Given the description of an element on the screen output the (x, y) to click on. 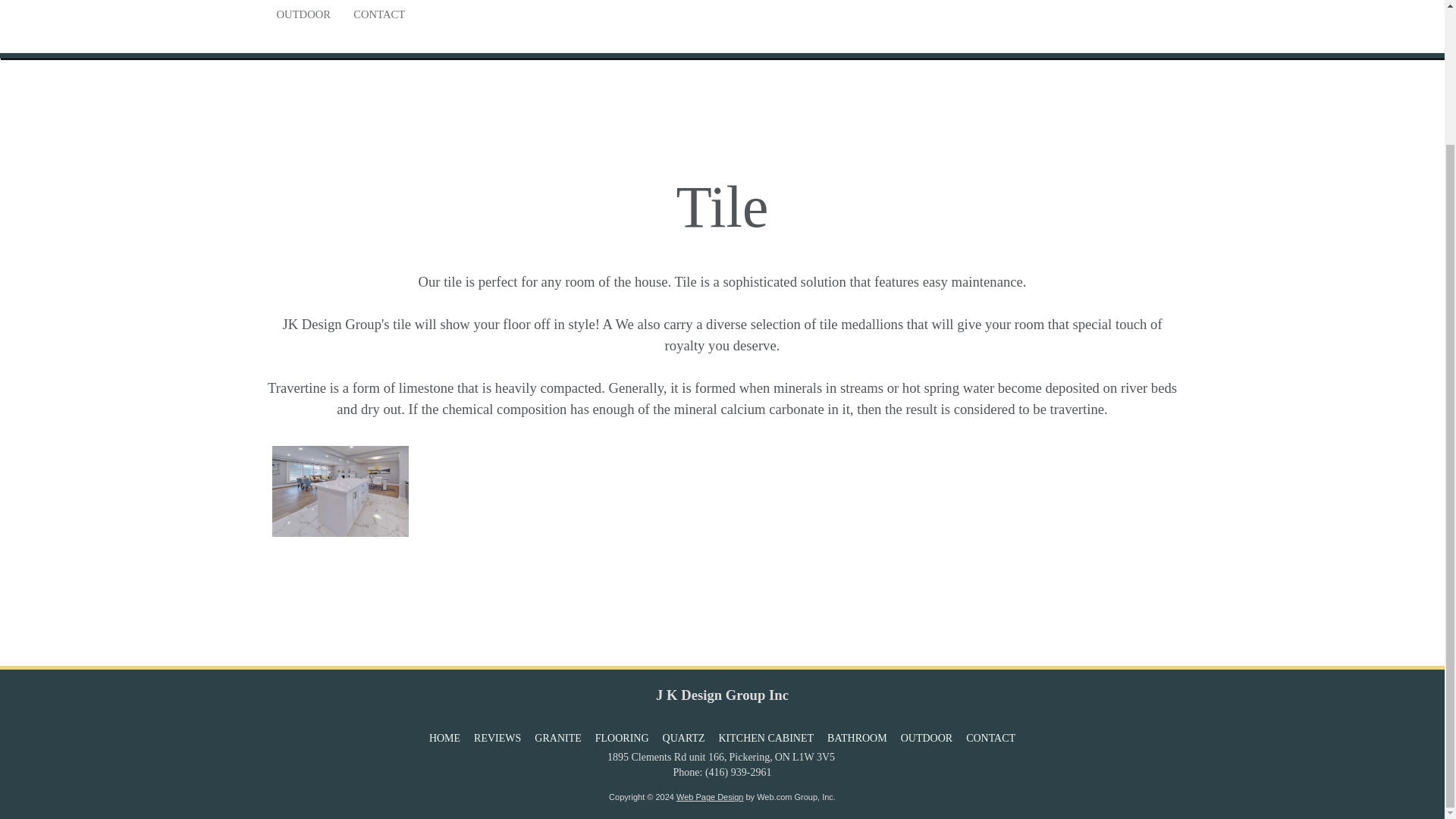
CONTACT (990, 738)
CONTACT (379, 18)
BATHROOM (856, 738)
Web Page Design (709, 796)
GRANITE (557, 738)
REVIEWS (497, 738)
QUARTZ (683, 738)
OUTDOOR (926, 738)
OUTDOOR (302, 18)
HOME (444, 738)
FLOORING (622, 738)
KITCHEN CABINET (765, 738)
